Given the description of an element on the screen output the (x, y) to click on. 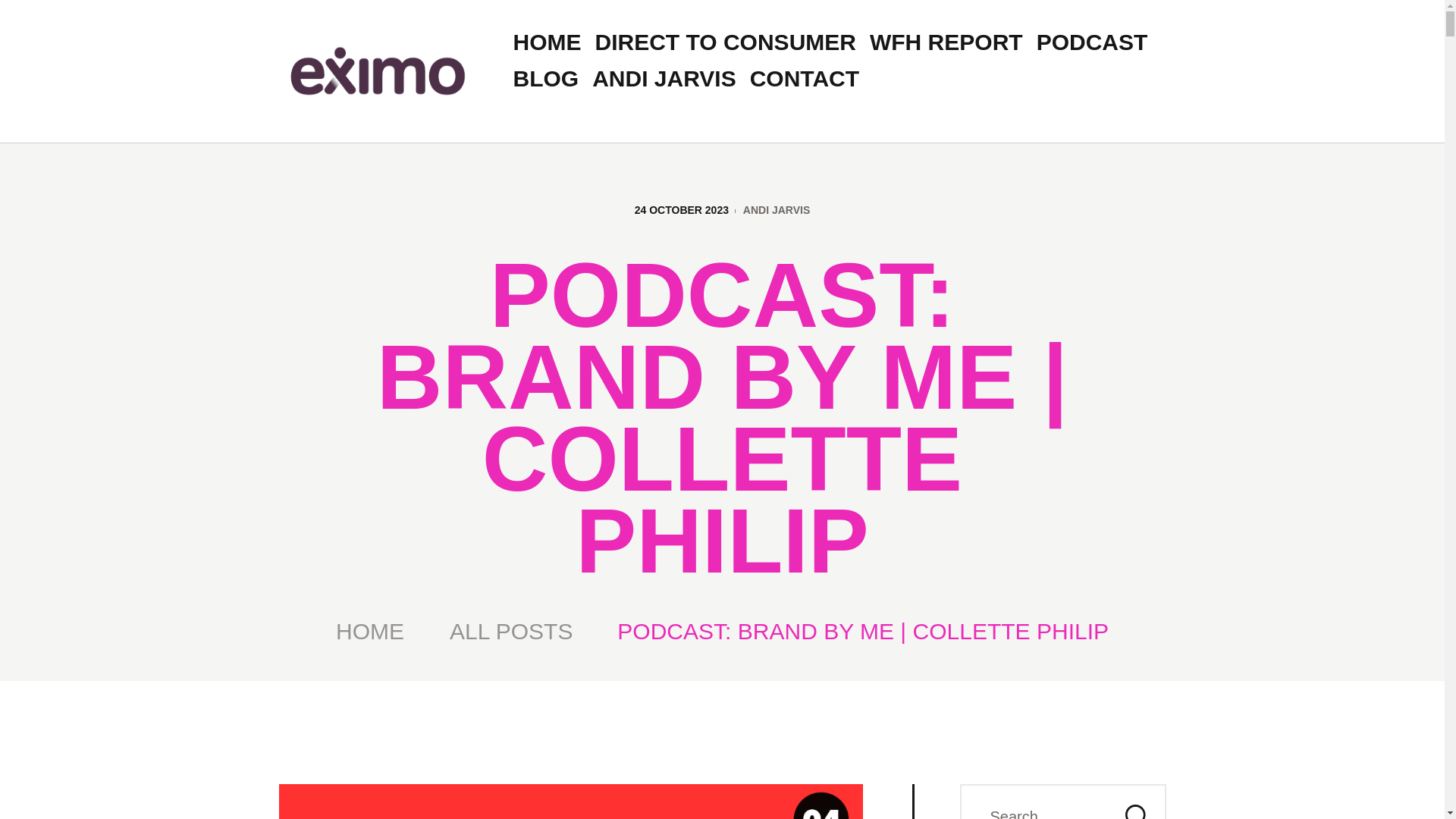
HOME (370, 631)
WFH REPORT (946, 42)
CONTACT (804, 78)
Search (1134, 801)
Search (1134, 801)
DIRECT TO CONSUMER (725, 42)
ALL POSTS (510, 631)
ANDI JARVIS (775, 209)
BLOG (546, 78)
ANDI JARVIS (663, 78)
